Given the description of an element on the screen output the (x, y) to click on. 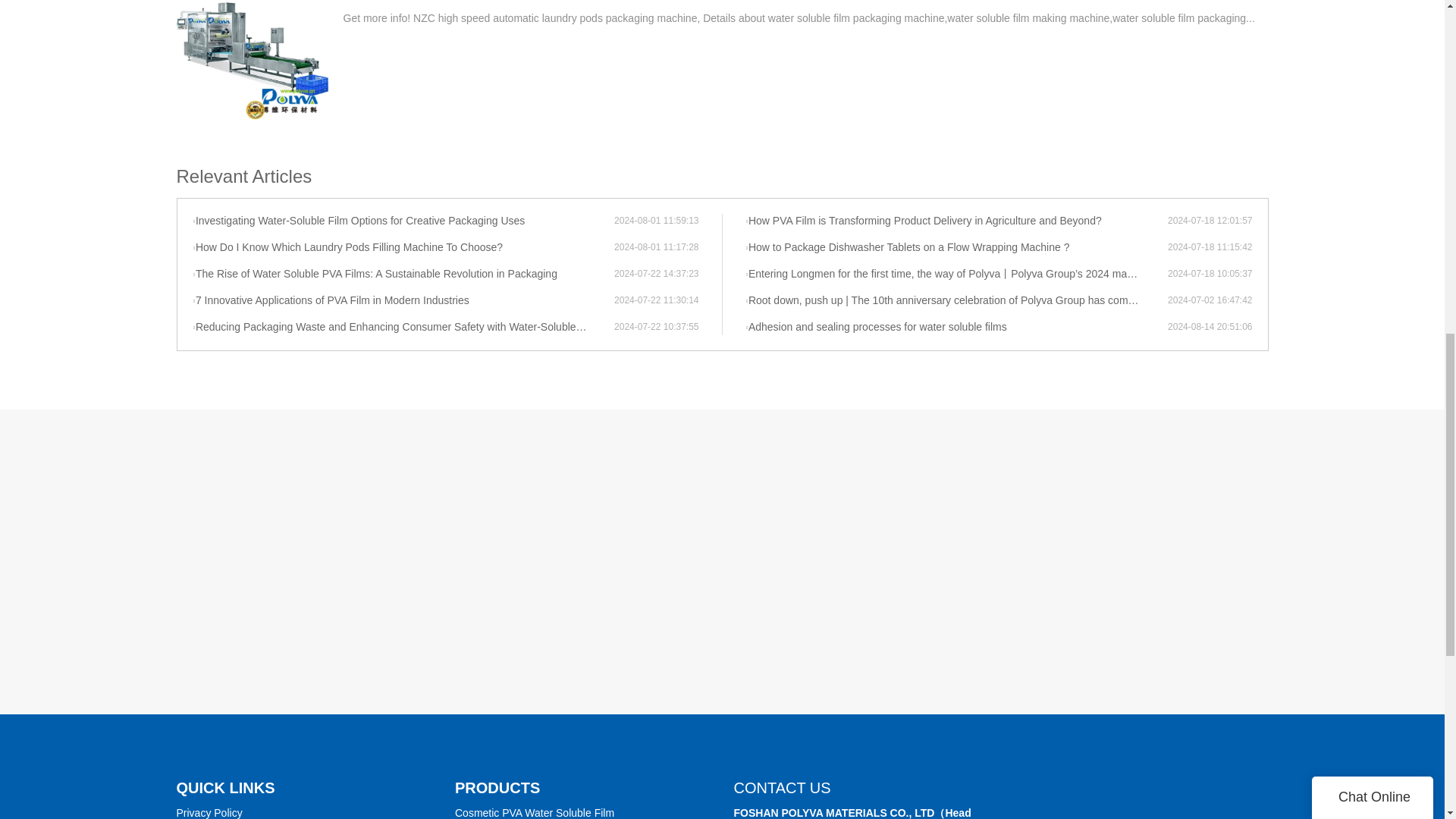
How Do I Know Which Laundry Pods Filling Machine To Choose? (403, 247)
Adhesion and sealing processes for water soluble films (955, 327)
7 Innovative Applications of PVA Film in Modern Industries (403, 300)
